Given the description of an element on the screen output the (x, y) to click on. 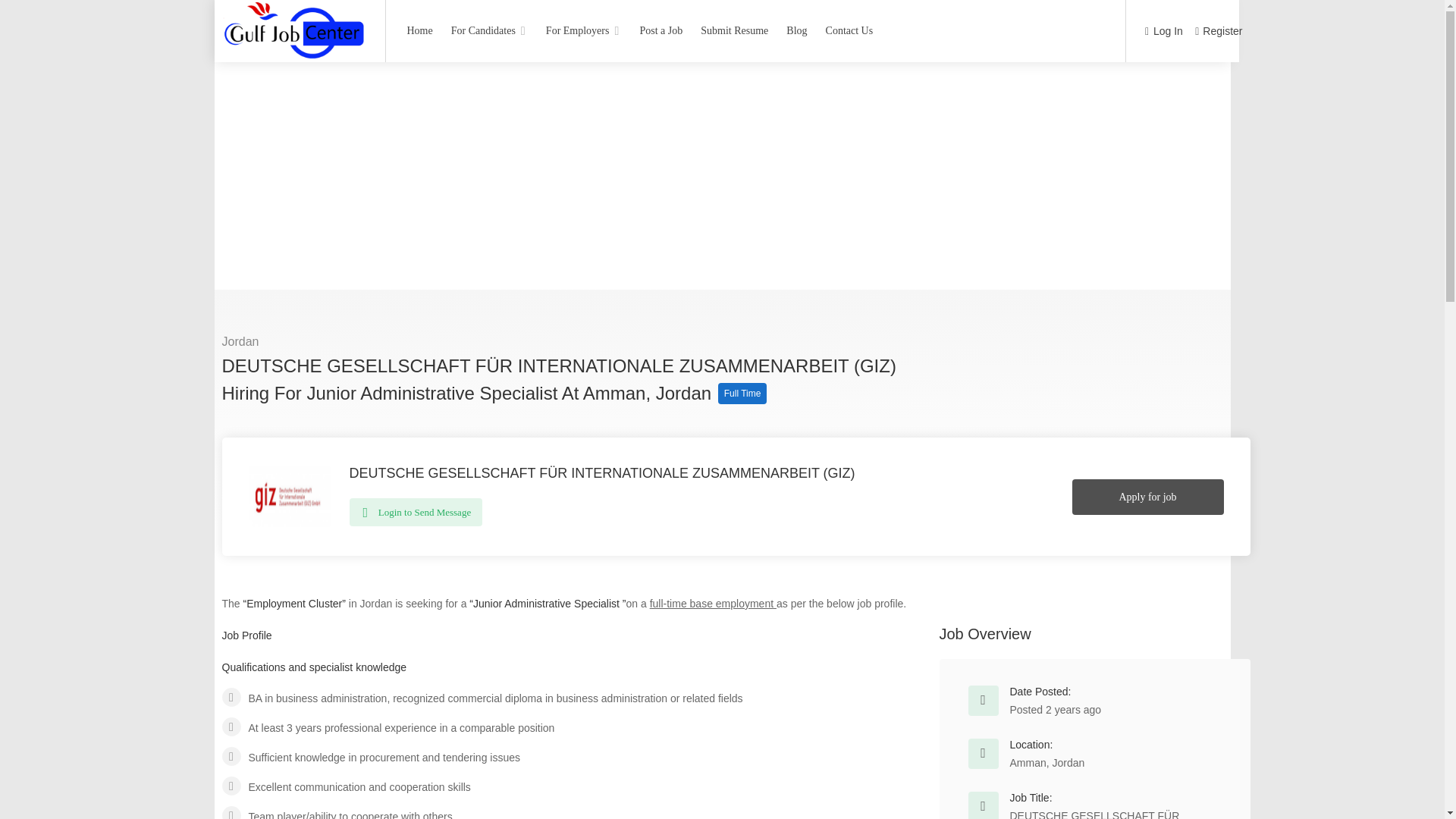
Home (419, 30)
Login to Send Message (415, 511)
For Employers (583, 30)
Blog (796, 30)
Contact Us (849, 30)
Post a Job (660, 30)
Submit Resume (734, 30)
For Candidates (488, 30)
Jordan (240, 341)
